Given the description of an element on the screen output the (x, y) to click on. 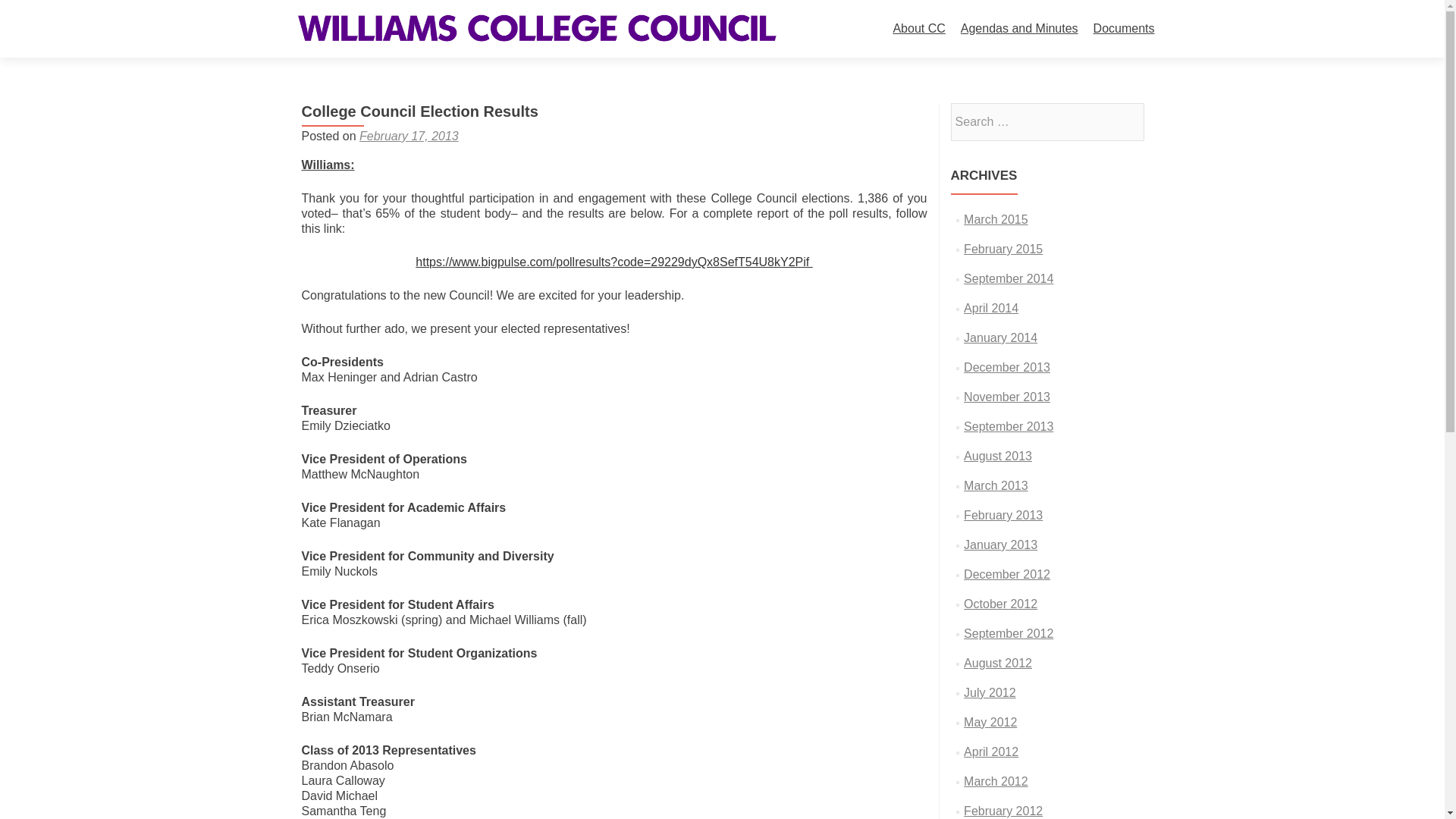
Agendas and Minutes (1019, 28)
February 17, 2013 (408, 135)
September 2012 (1007, 633)
October 2012 (999, 603)
February 2012 (1002, 810)
Search (1125, 120)
Search (1125, 120)
September 2014 (1007, 278)
February 2015 (1002, 248)
May 2012 (989, 721)
